Given the description of an element on the screen output the (x, y) to click on. 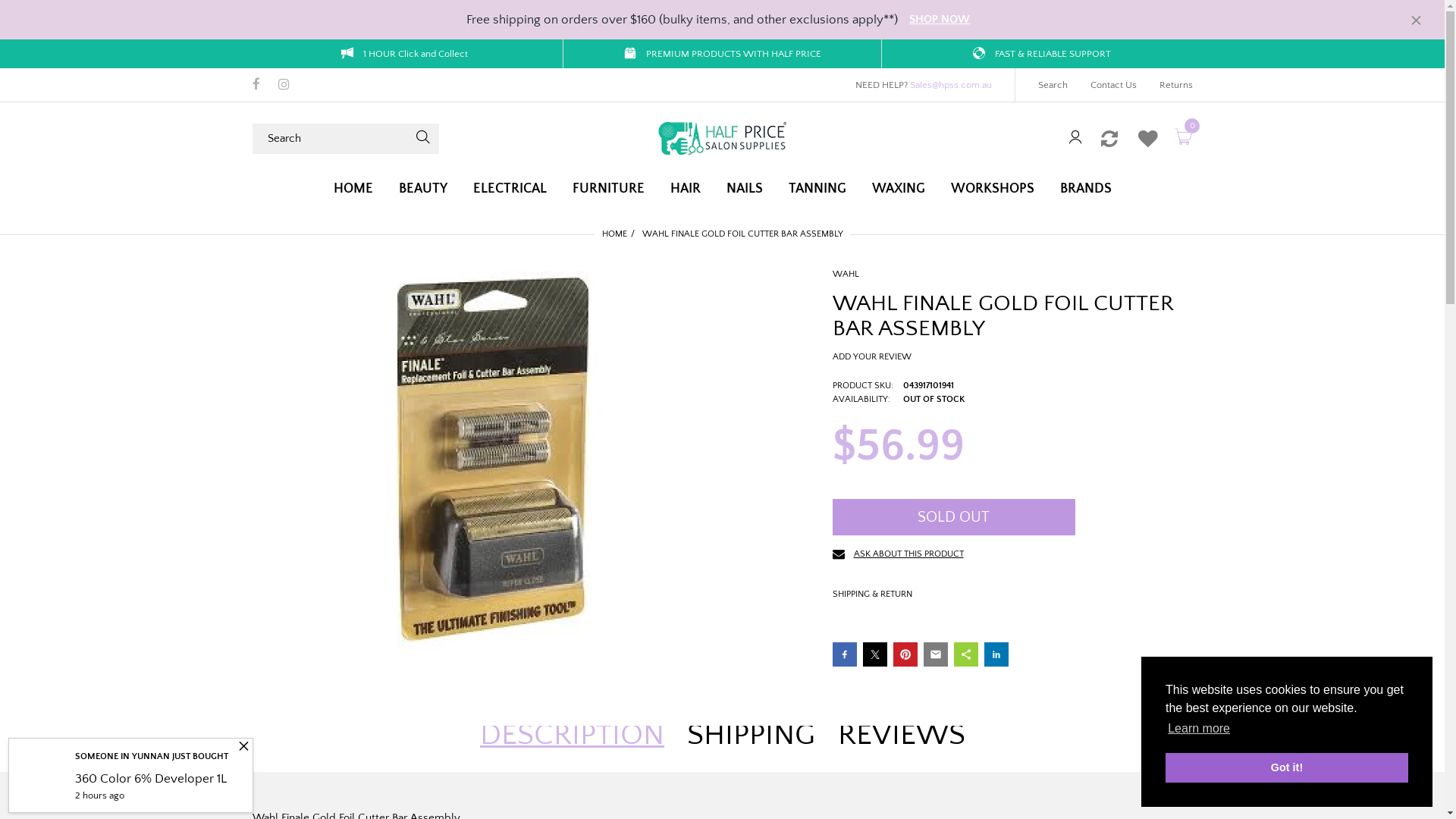
Instagram Element type: hover (282, 85)
Search Element type: text (1051, 84)
Sales@hpss.com.au Element type: text (950, 84)
BRANDS Element type: text (1085, 188)
Contact Us Element type: text (1113, 84)
TANNING Element type: text (817, 188)
Sign in Element type: hover (1074, 138)
ELECTRICAL Element type: text (509, 188)
Half Price Salon Supplies Element type: hover (721, 137)
ASK ABOUT THIS PRODUCT Element type: text (897, 556)
SHOP NOW Element type: text (939, 19)
NAILS Element type: text (744, 188)
FURNITURE Element type: text (607, 188)
Got it! Element type: text (1286, 767)
SHIPPING & RETURN Element type: text (872, 594)
BEAUTY Element type: text (422, 188)
WAXING Element type: text (898, 188)
Facebook Element type: hover (255, 85)
SOLD OUT Element type: text (953, 516)
Learn more Element type: text (1198, 728)
HAIR Element type: text (685, 188)
ADD YOUR REVIEW Element type: text (871, 356)
SHIPPING Element type: text (751, 734)
REVIEWS Element type: text (900, 734)
0 Element type: text (1183, 138)
HOME Element type: text (353, 188)
WORKSHOPS Element type: text (992, 188)
Close Element type: hover (243, 746)
Returns Element type: text (1175, 84)
WAHL Element type: text (845, 274)
HOME Element type: text (614, 233)
DESCRIPTION Element type: text (571, 734)
